Given the description of an element on the screen output the (x, y) to click on. 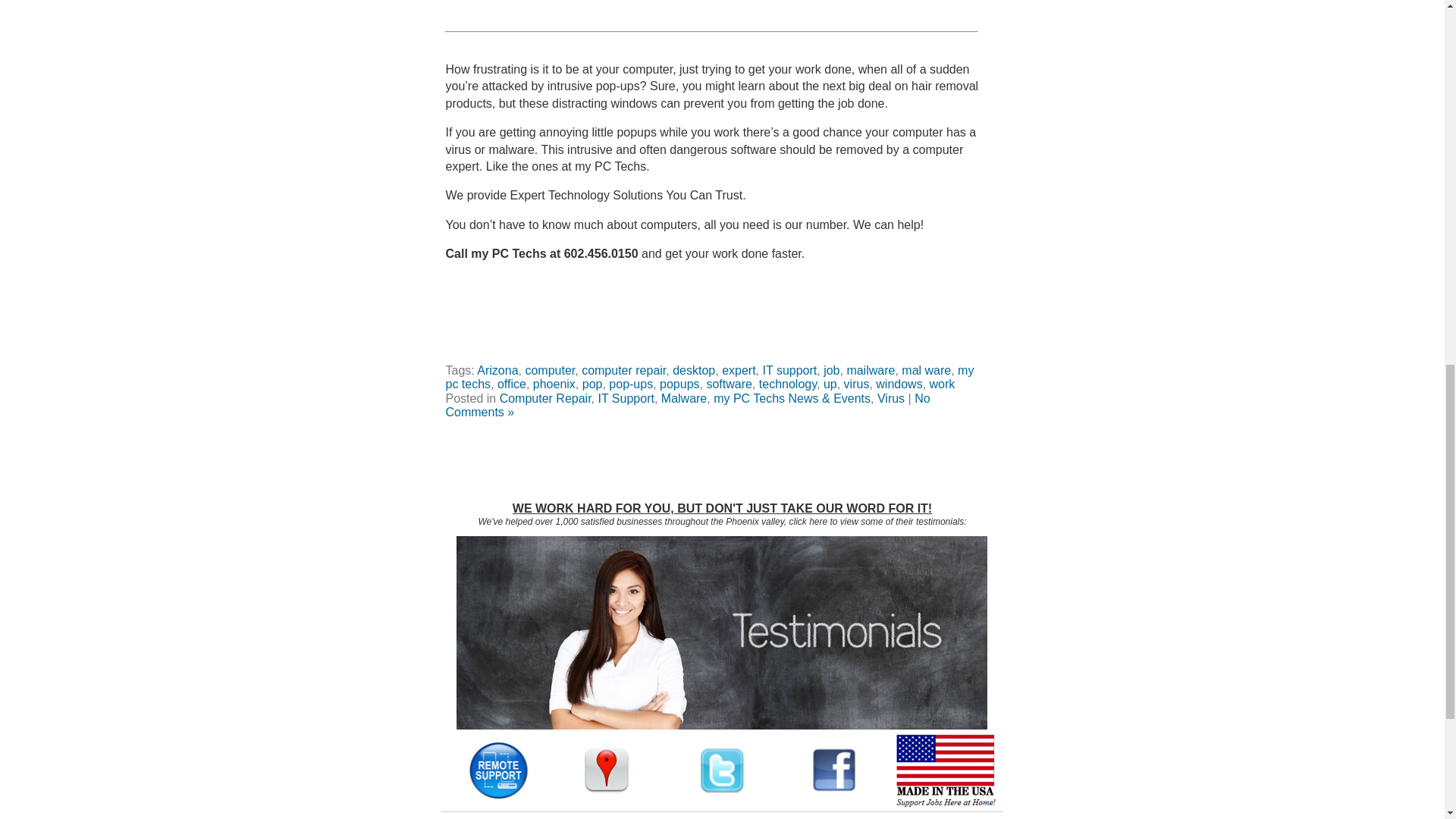
job (832, 369)
my pc techs (709, 377)
mal ware (925, 369)
Arizona (497, 369)
IT support (789, 369)
office (511, 383)
computer (549, 369)
mailware (870, 369)
desktop (693, 369)
expert (738, 369)
computer repair (622, 369)
